Given the description of an element on the screen output the (x, y) to click on. 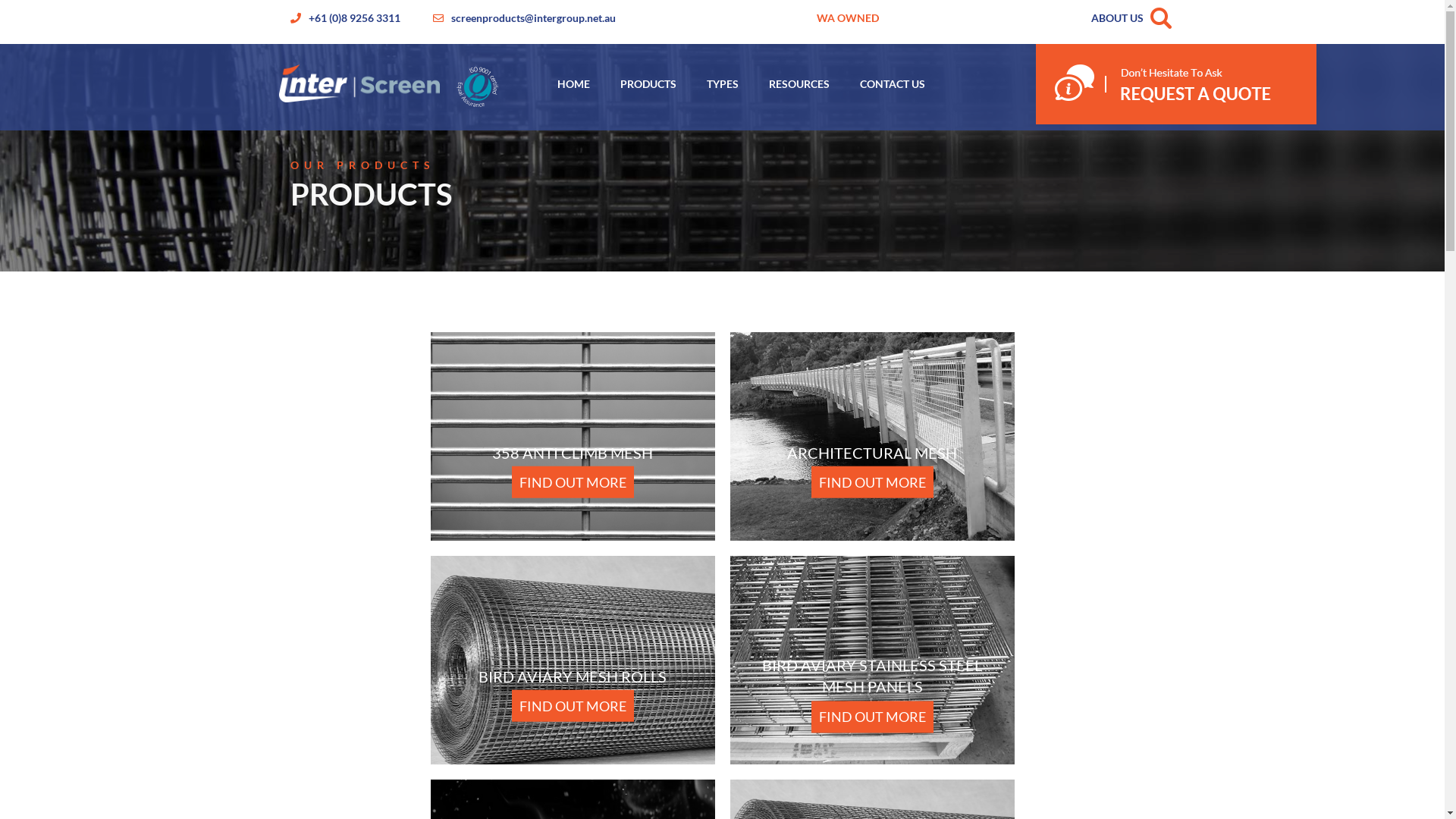
PRODUCTS Element type: text (648, 83)
FIND OUT MORE Element type: text (572, 482)
HOME Element type: text (573, 83)
screenproducts@intergroup.net.au Element type: text (532, 17)
FIND OUT MORE Element type: text (872, 482)
FIND OUT MORE Element type: text (872, 716)
ABOUT US Element type: text (1116, 17)
+61 (0)8 9256 3311 Element type: text (353, 17)
CONTACT US Element type: text (892, 83)
FIND OUT MORE Element type: text (572, 705)
TYPES Element type: text (722, 83)
RESOURCES Element type: text (798, 83)
